Given the description of an element on the screen output the (x, y) to click on. 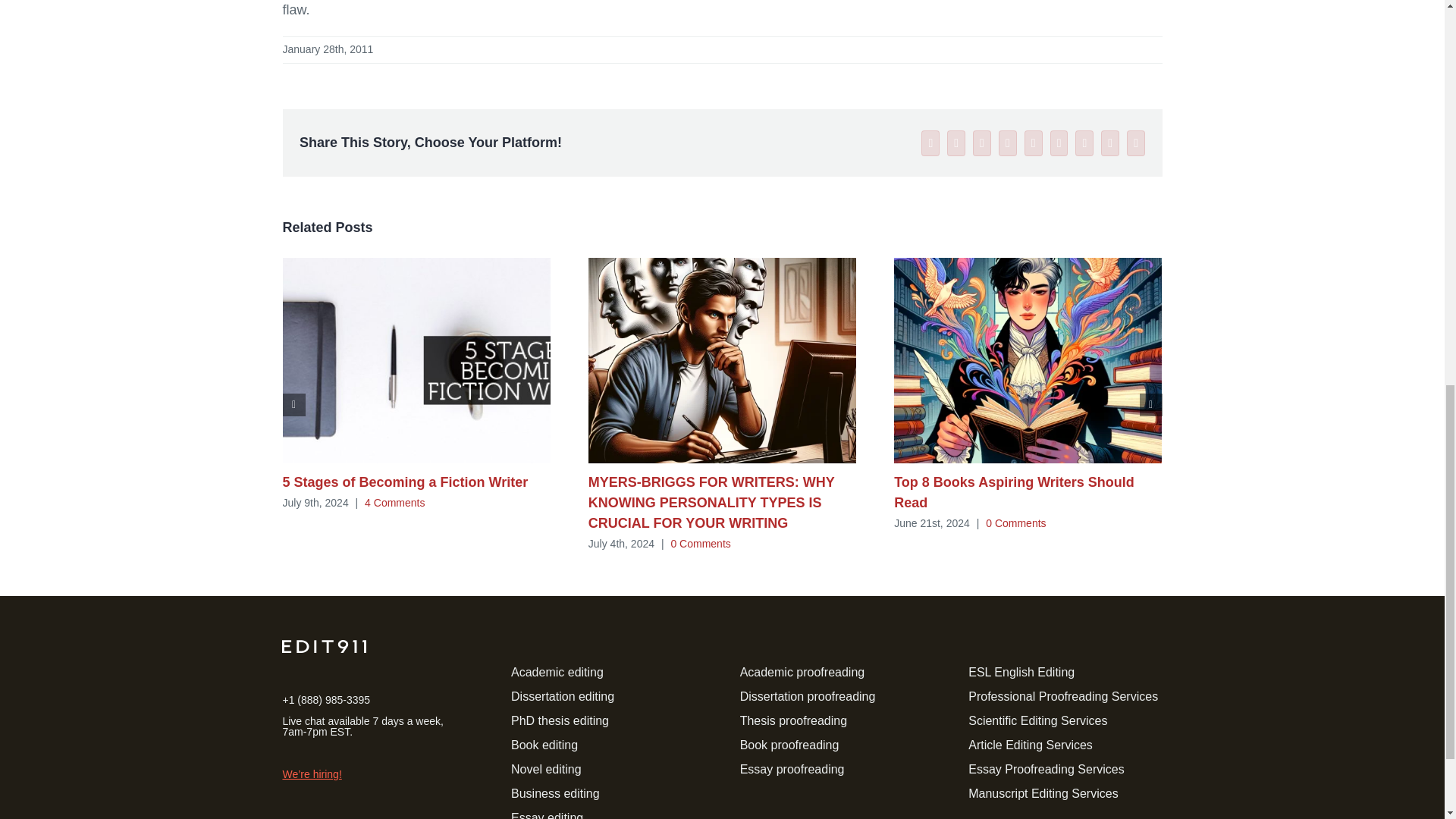
5 Stages of Becoming a Fiction Writer (404, 482)
Top 8 Books Aspiring Writers Should Read (1013, 492)
Edit911 (324, 645)
